Given the description of an element on the screen output the (x, y) to click on. 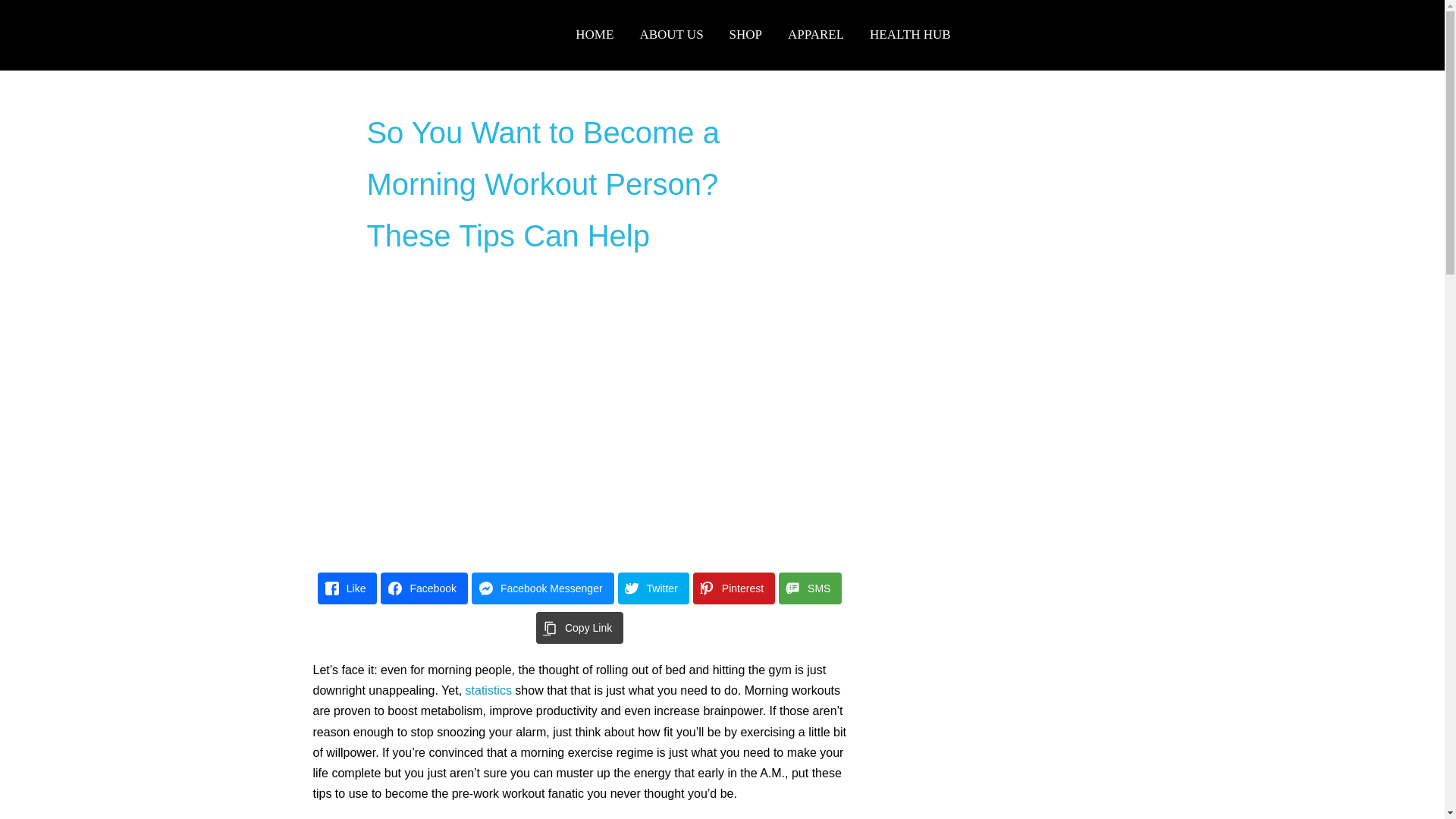
HEALTH HUB (910, 34)
become-a-morning-workout-person-and-start-feeling-better (581, 412)
Share on Like (347, 588)
ABOUT US (670, 34)
Share on Facebook Messenger (542, 588)
Facebook (423, 588)
Twitter (652, 588)
HOME (594, 34)
Like (347, 588)
APPAREL (815, 34)
Copy Link (579, 627)
Share on Facebook (423, 588)
Share on Twitter (652, 588)
Share on SMS (809, 588)
Share on Copy Link (579, 627)
